Given the description of an element on the screen output the (x, y) to click on. 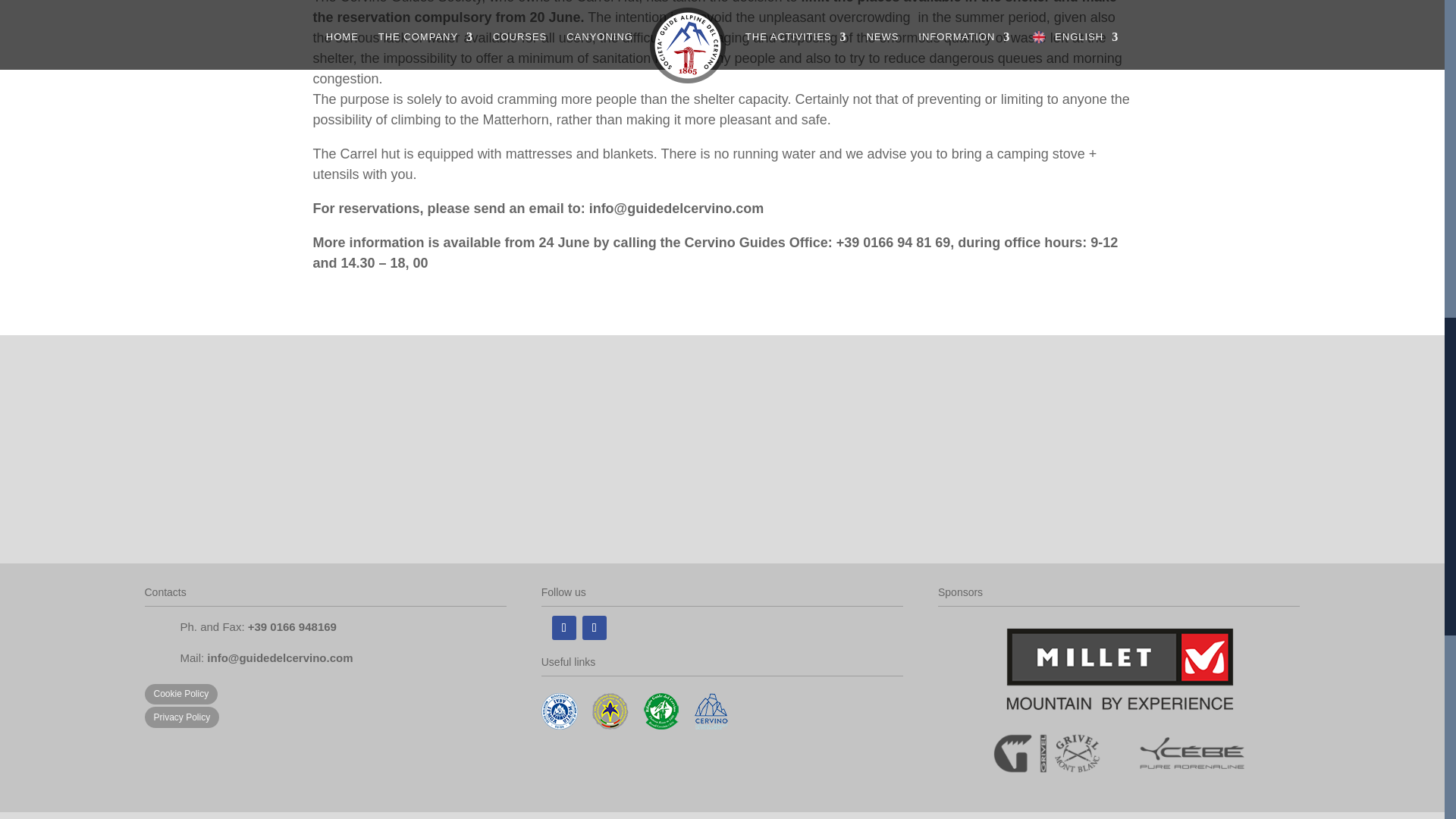
Follow on Facebook (563, 627)
Follow on Instagram (594, 627)
